Given the description of an element on the screen output the (x, y) to click on. 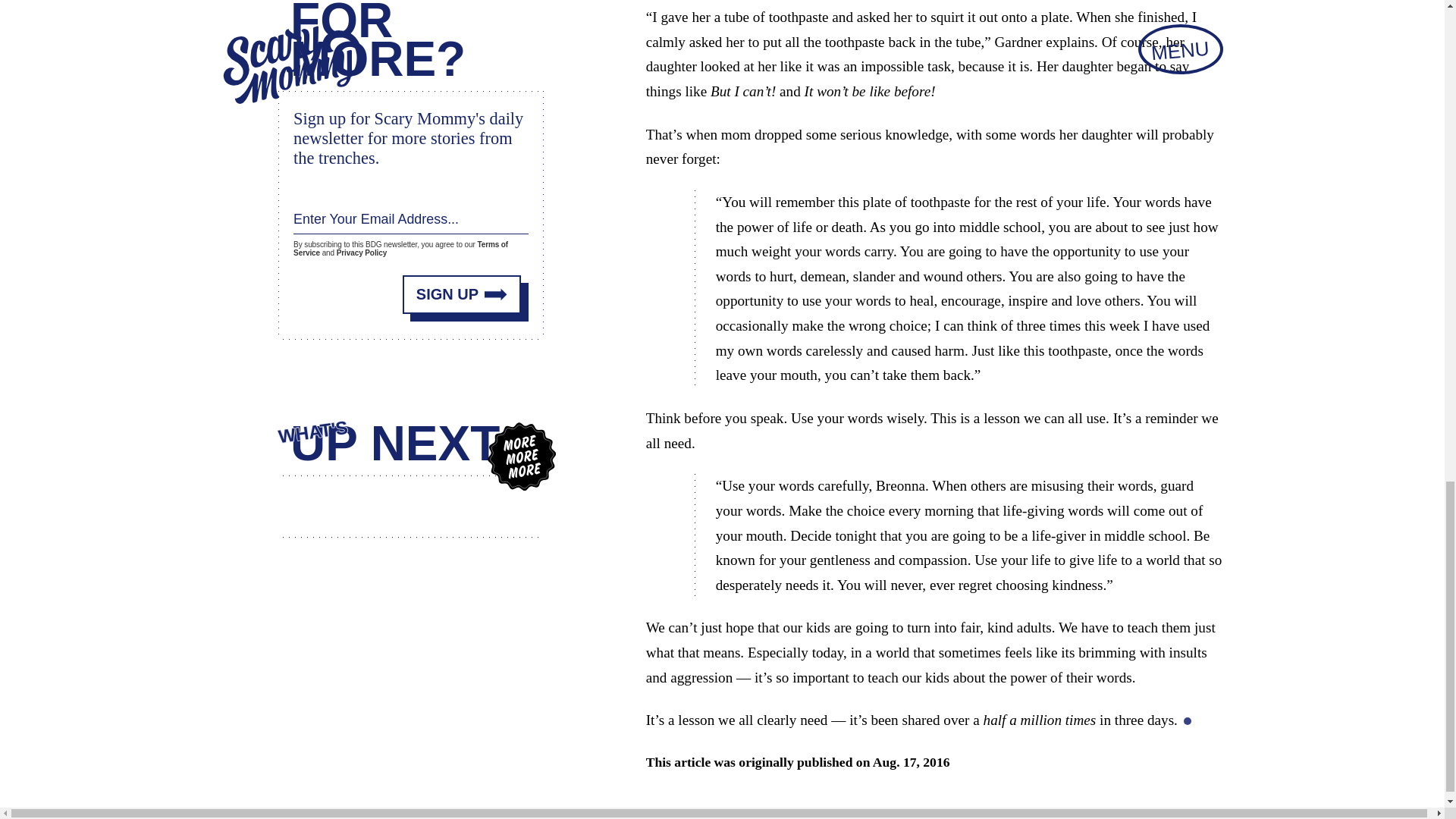
Privacy Policy (361, 249)
SIGN UP (462, 288)
Terms of Service (401, 243)
